Given the description of an element on the screen output the (x, y) to click on. 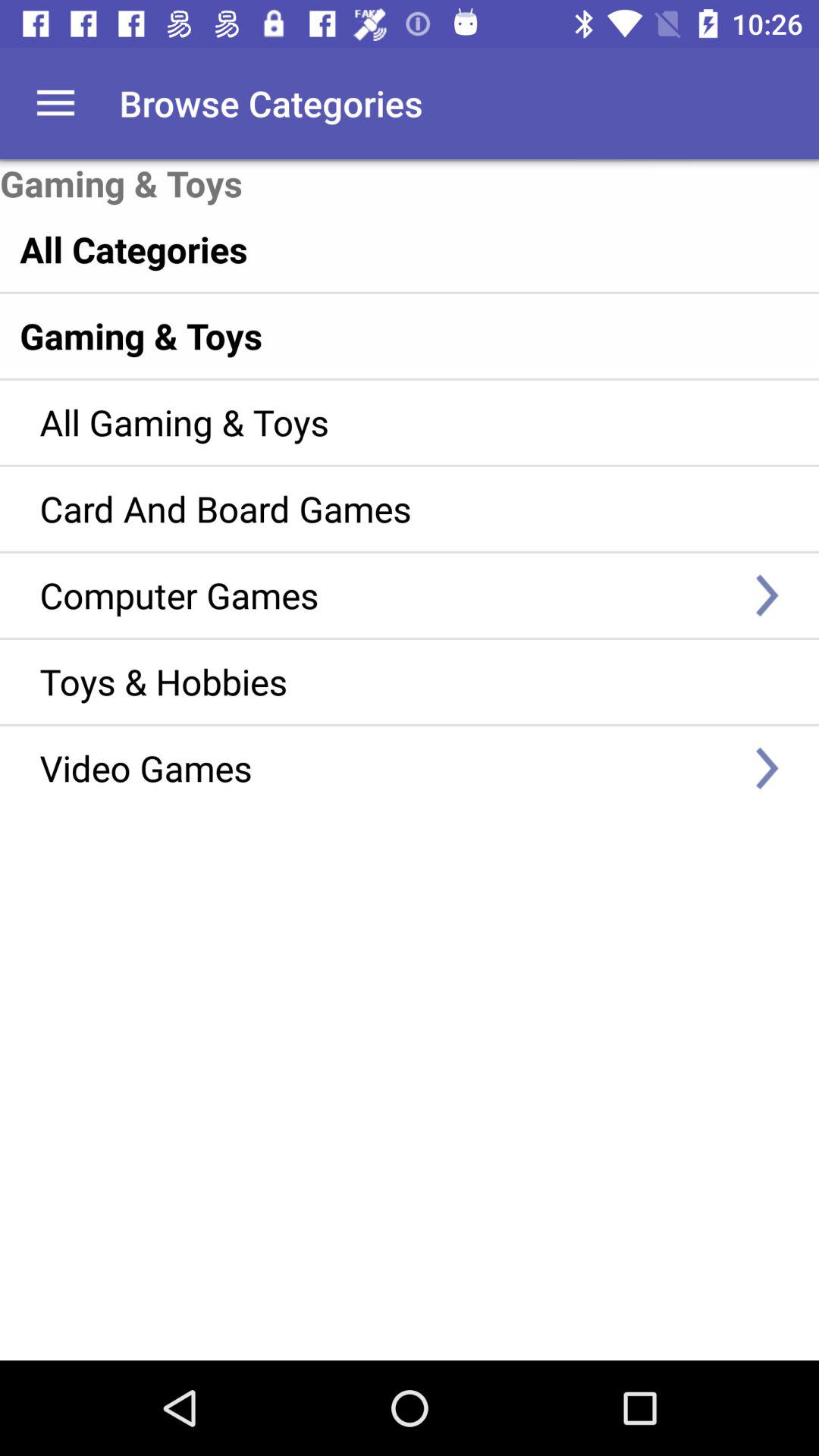
click item below all gaming & toys (387, 508)
